Given the description of an element on the screen output the (x, y) to click on. 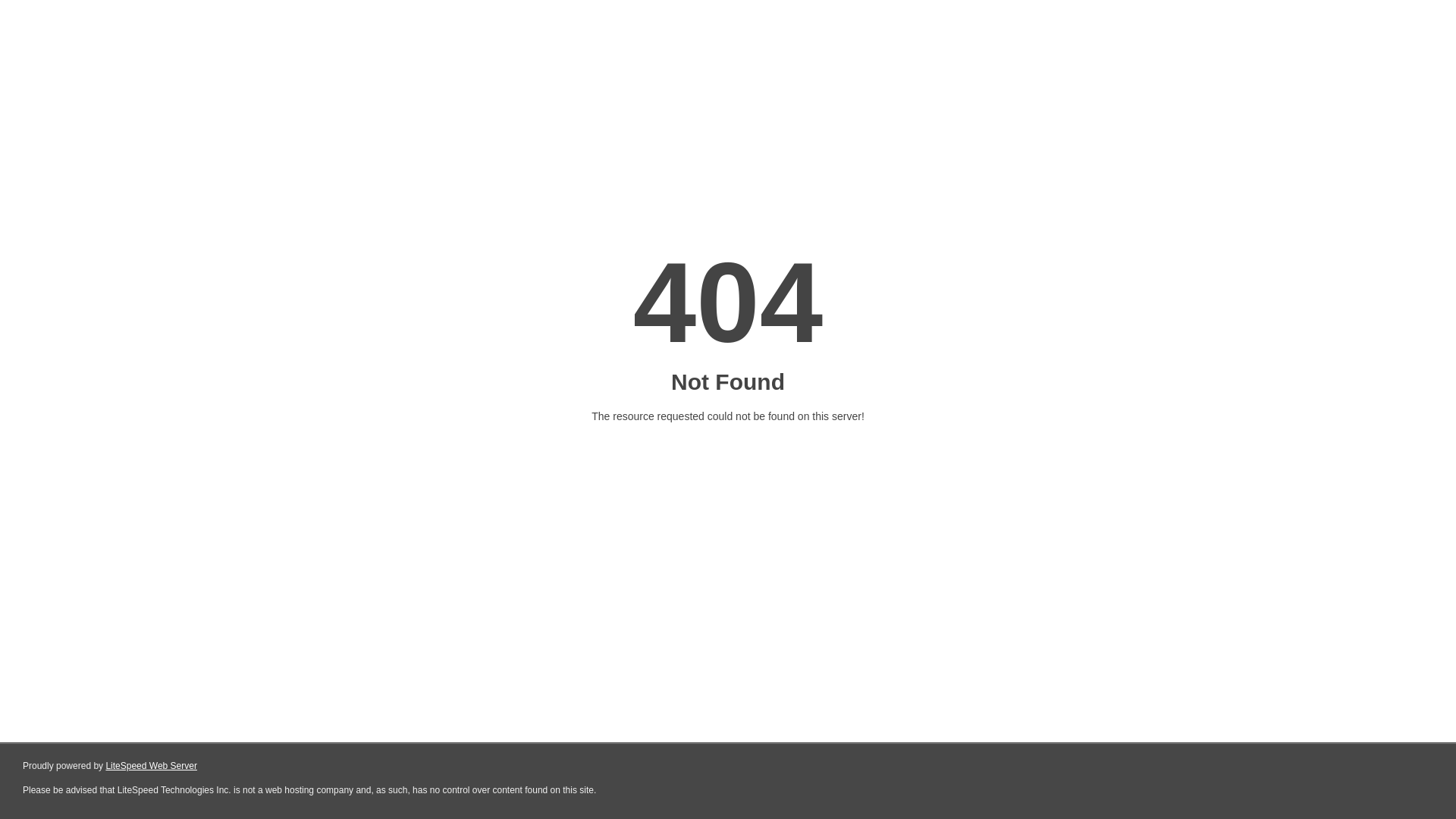
LiteSpeed Web Server Element type: text (151, 765)
